Given the description of an element on the screen output the (x, y) to click on. 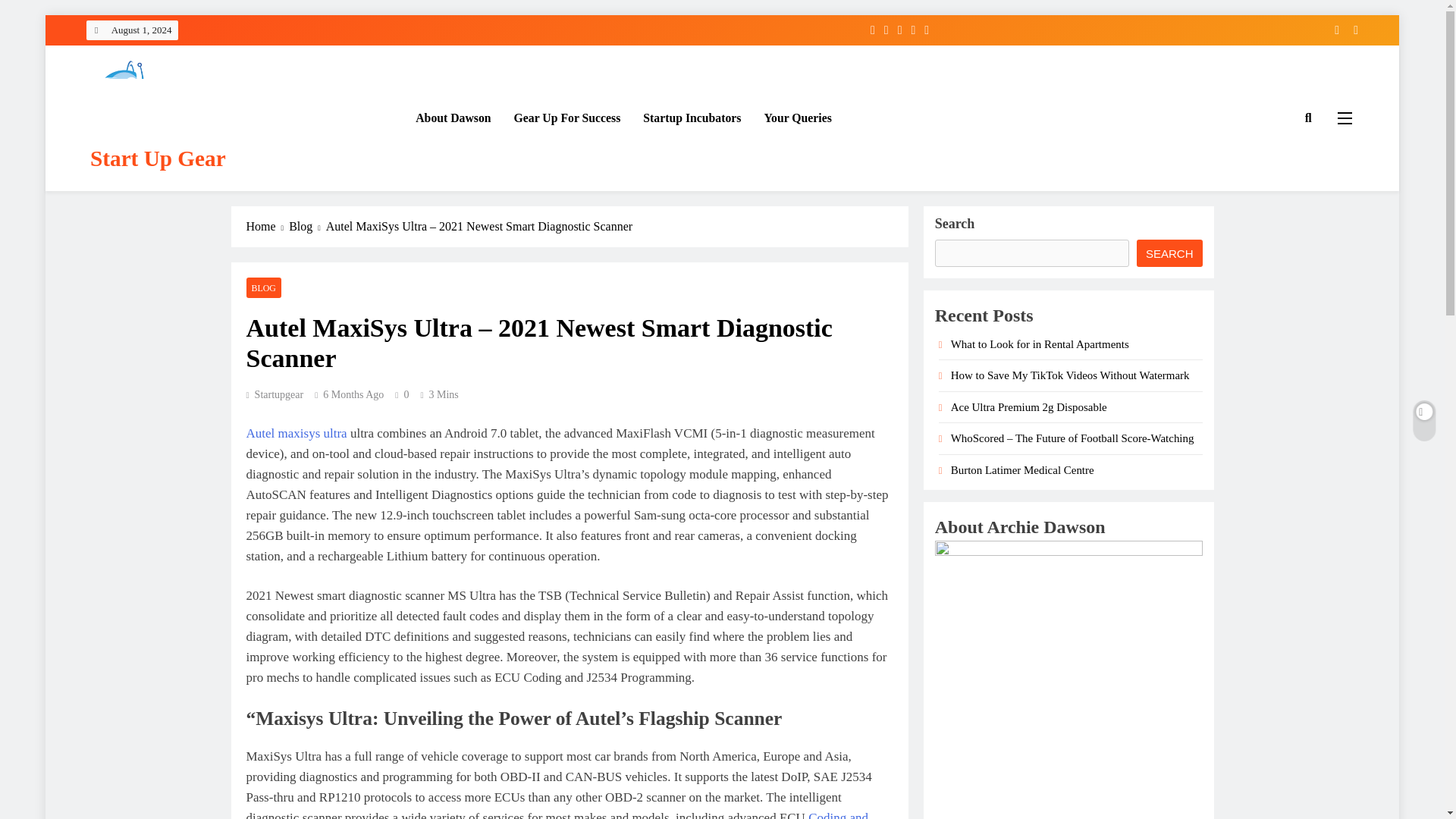
SEARCH (1169, 252)
Gear Up For Success (566, 117)
Your Queries (797, 117)
Startupgear (274, 394)
Autel maxisys ultra (296, 432)
BLOG (263, 287)
What to Look for in Rental Apartments (1039, 344)
Blog (307, 226)
Startup Incubators (691, 117)
About Dawson (453, 117)
Start Up Gear (157, 158)
How to Save My TikTok Videos Without Watermark (1069, 375)
6 Months Ago (353, 394)
Ace Ultra Premium 2g Disposable (1028, 407)
